Given the description of an element on the screen output the (x, y) to click on. 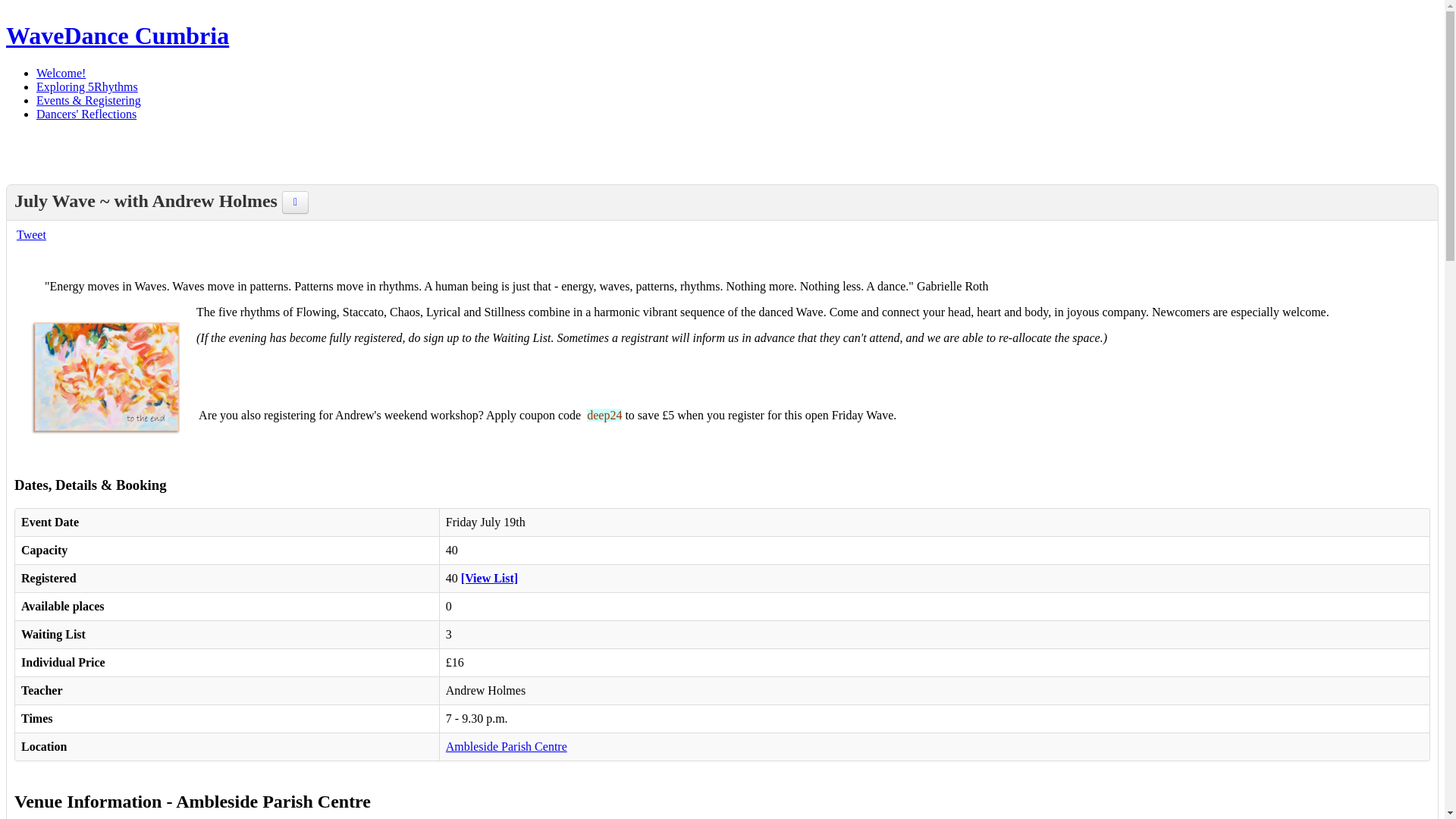
Tweet (31, 234)
Welcome! (60, 72)
Ambleside Parish Centre (506, 746)
Exploring 5Rhythms (87, 86)
Ambleside Parish Centre (506, 746)
Dancers' Reflections (86, 113)
WaveDance Cumbria (116, 35)
